Given the description of an element on the screen output the (x, y) to click on. 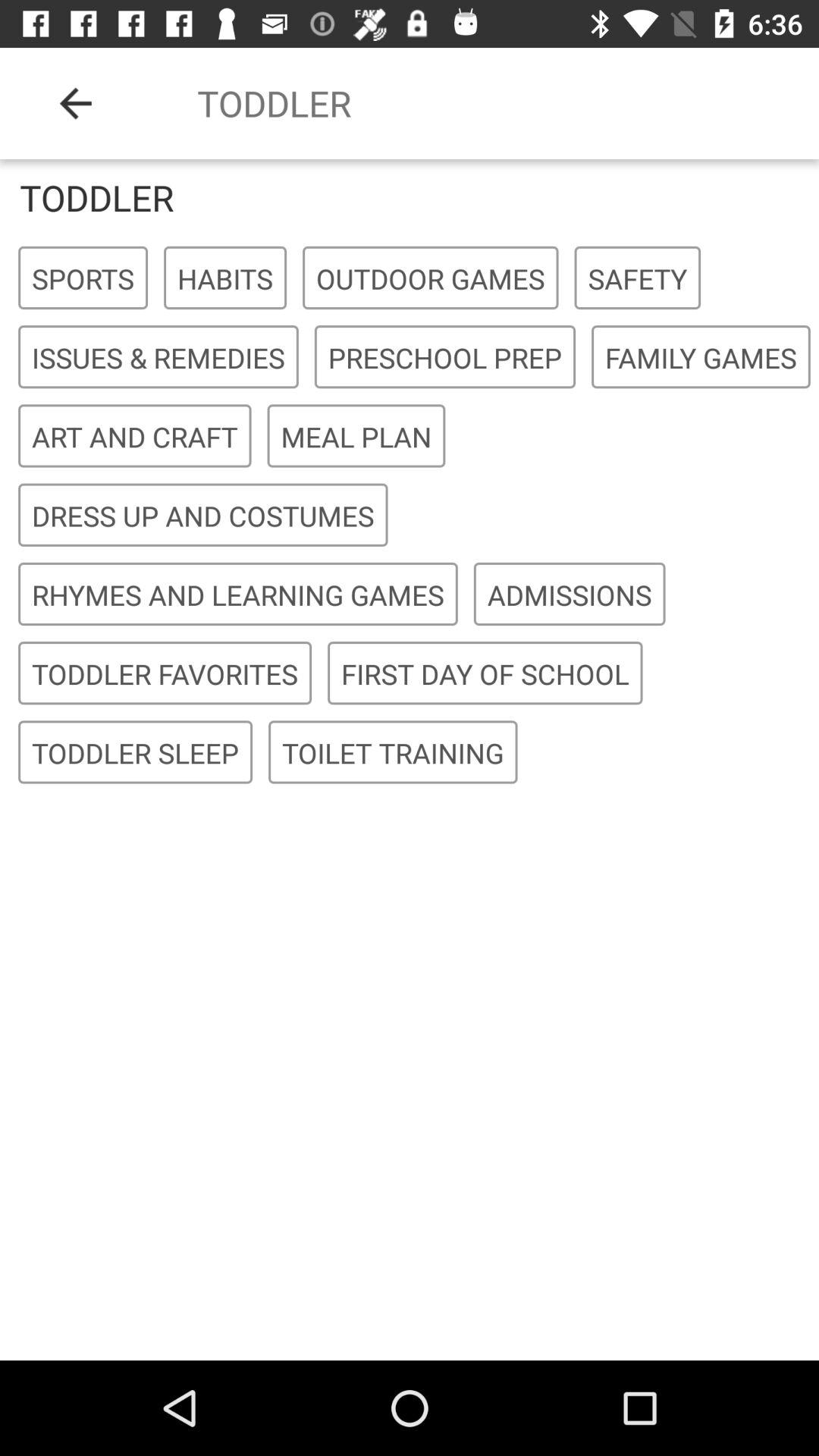
select icon next to sports (224, 278)
